Given the description of an element on the screen output the (x, y) to click on. 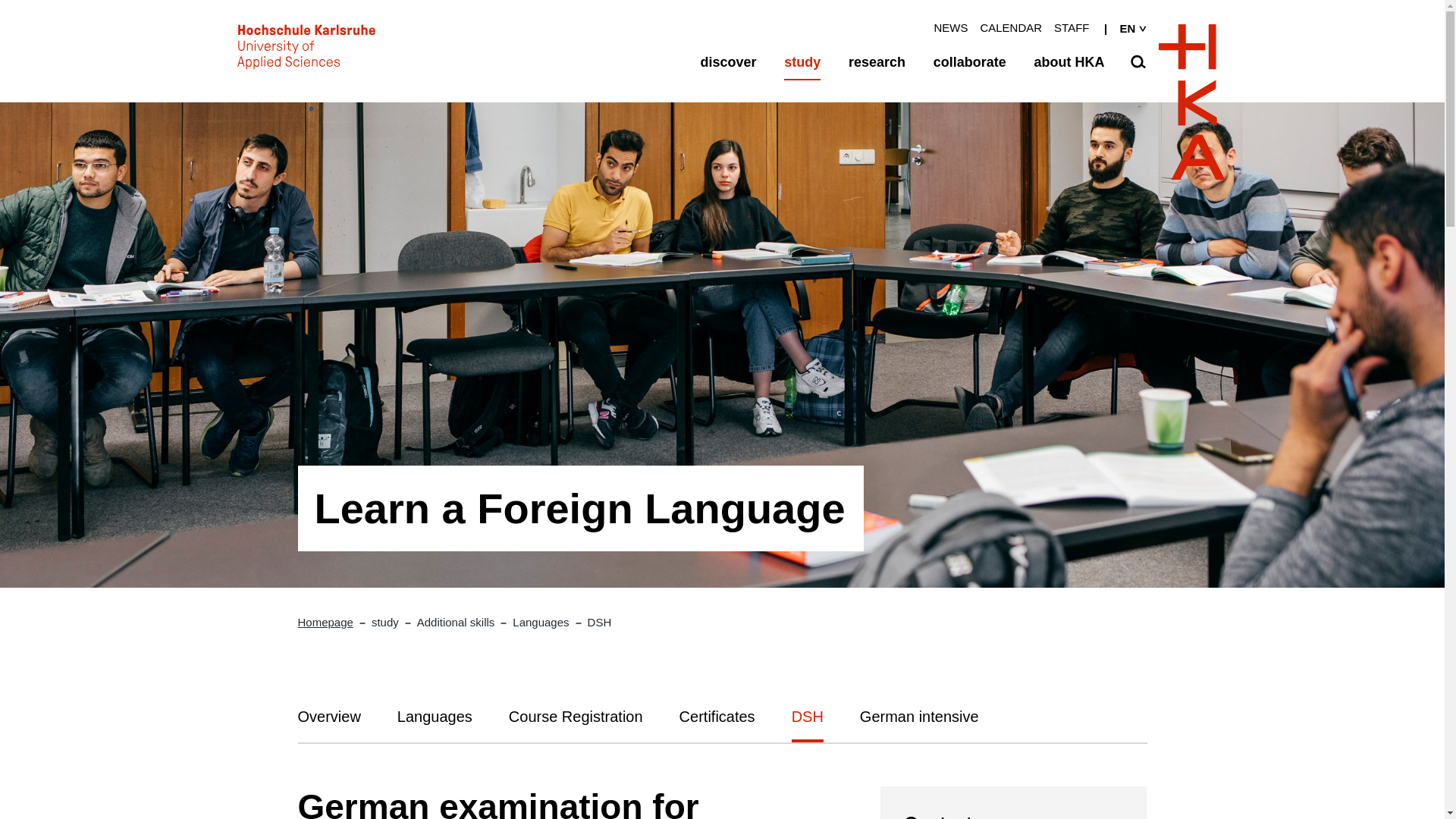
STAFF (1071, 27)
Hochschule Karlsruhe - University of Applied Sciences (304, 50)
News (950, 27)
EN DROPDOWN ARROW (1121, 28)
Calendar (1010, 27)
DROPDOWN ARROW (1142, 28)
Staff (1071, 27)
discover (727, 62)
NEWS (950, 27)
CALENDAR (1010, 27)
